Given the description of an element on the screen output the (x, y) to click on. 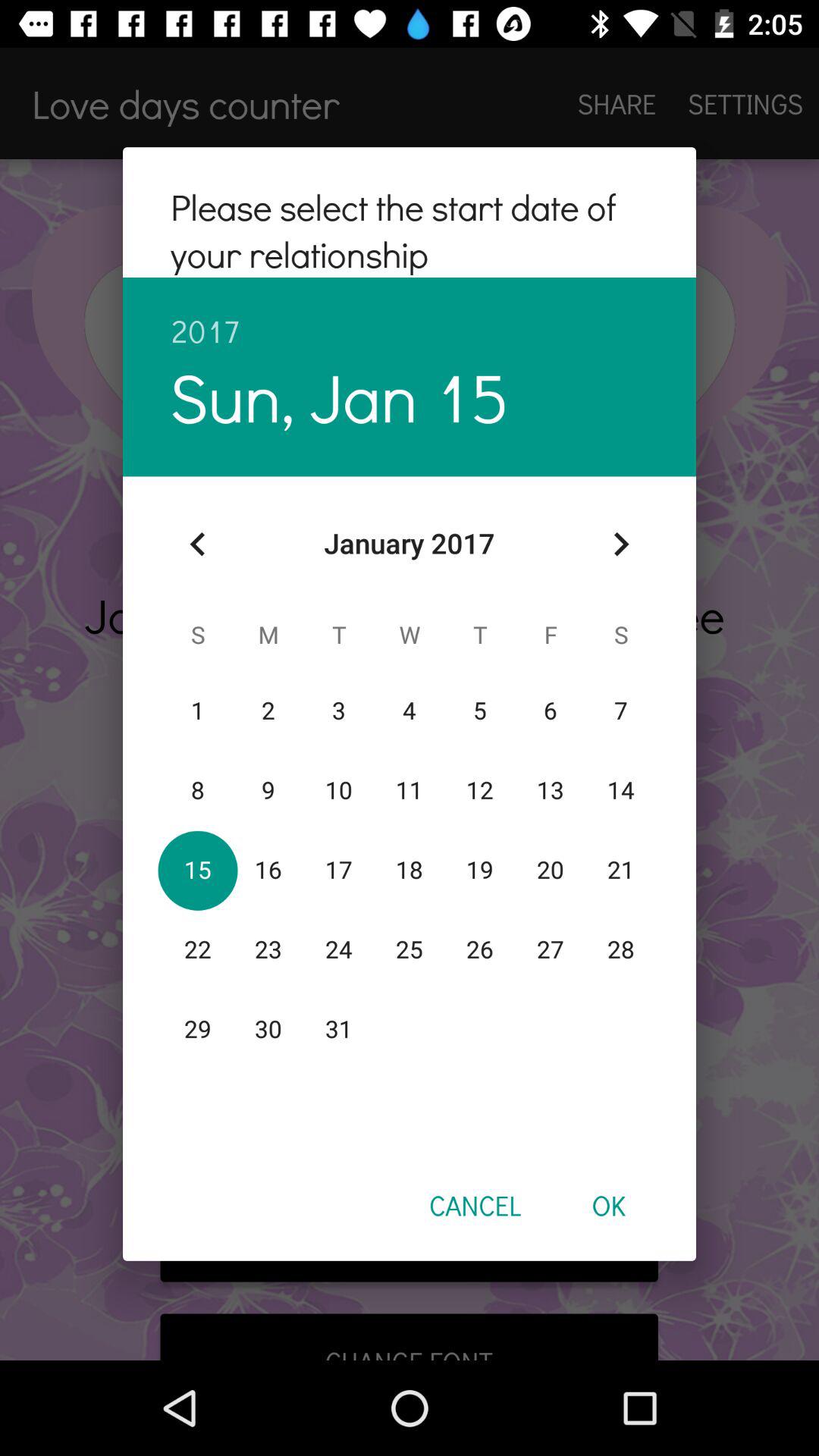
select the ok item (608, 1204)
